Given the description of an element on the screen output the (x, y) to click on. 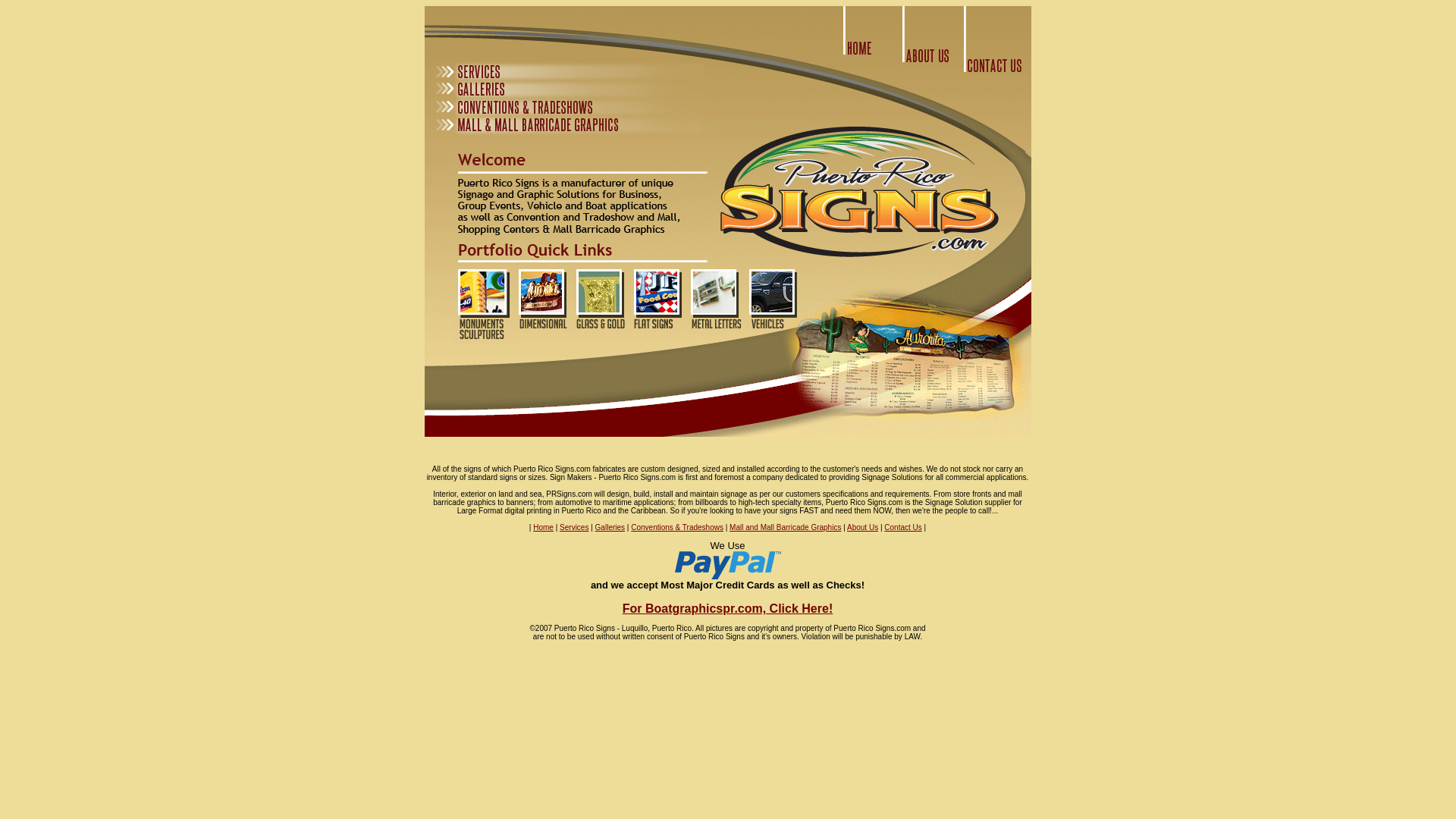
Home (542, 527)
Galleries (609, 527)
About Us (862, 527)
For Boatgraphicspr.com, Click Here! (727, 612)
Contact Us (902, 527)
Mall and Mall Barricade Graphics (785, 527)
Services (573, 527)
